Given the description of an element on the screen output the (x, y) to click on. 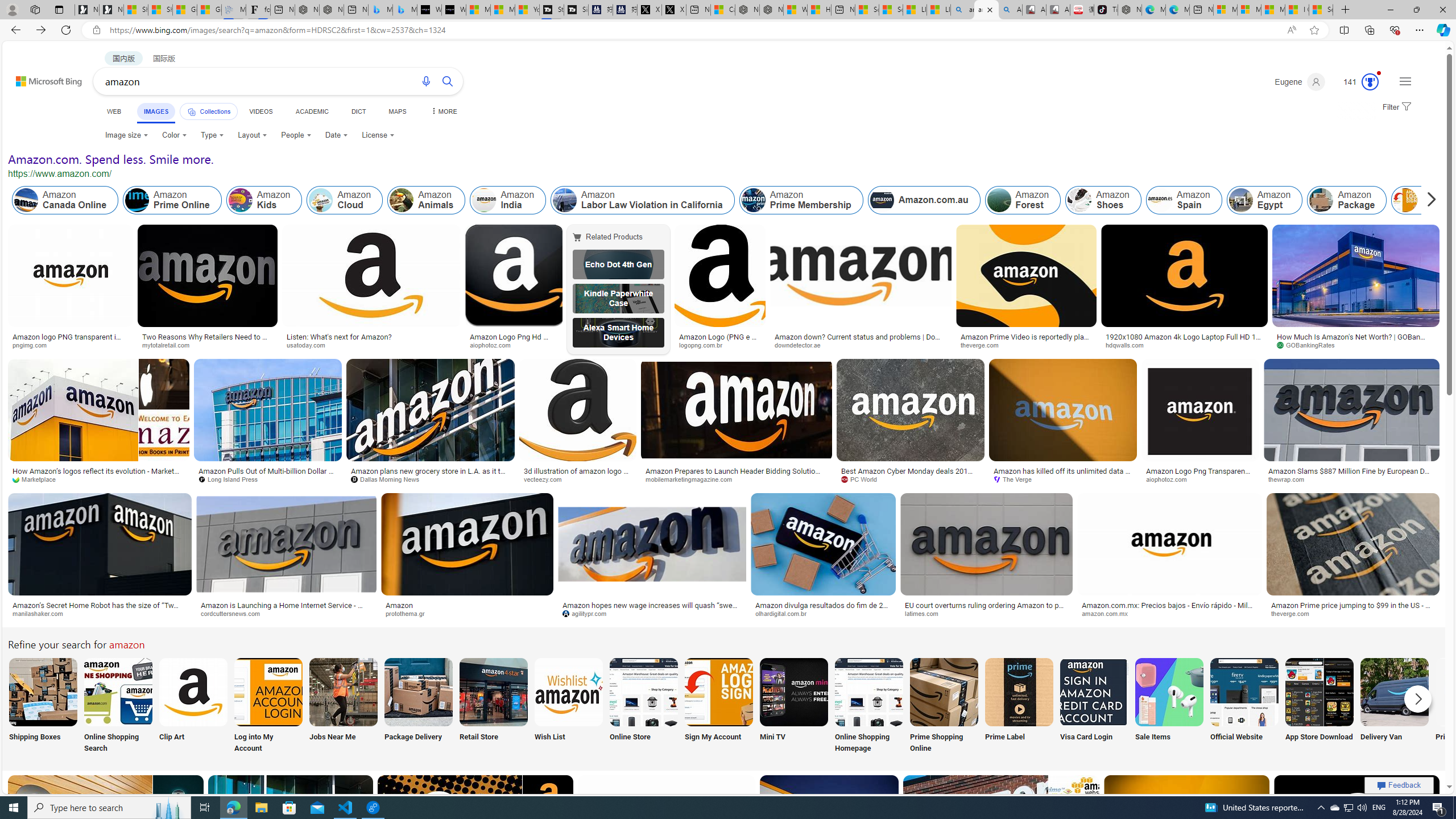
Long Island Press (267, 479)
Search button (447, 80)
Amazon Prime Shopping Online (944, 691)
Package Delivery (418, 706)
Amazon Login (1405, 200)
Alexa Smart Home Devices (617, 332)
Microsoft Start Sports (478, 9)
Microsoft Bing Travel - Stays in Bangkok, Bangkok, Thailand (380, 9)
Gilma and Hector both pose tropical trouble for Hawaii (208, 9)
Amazon Clip Art Clip Art (192, 706)
olhardigital.com.br (784, 612)
IMAGES (156, 112)
